Given the description of an element on the screen output the (x, y) to click on. 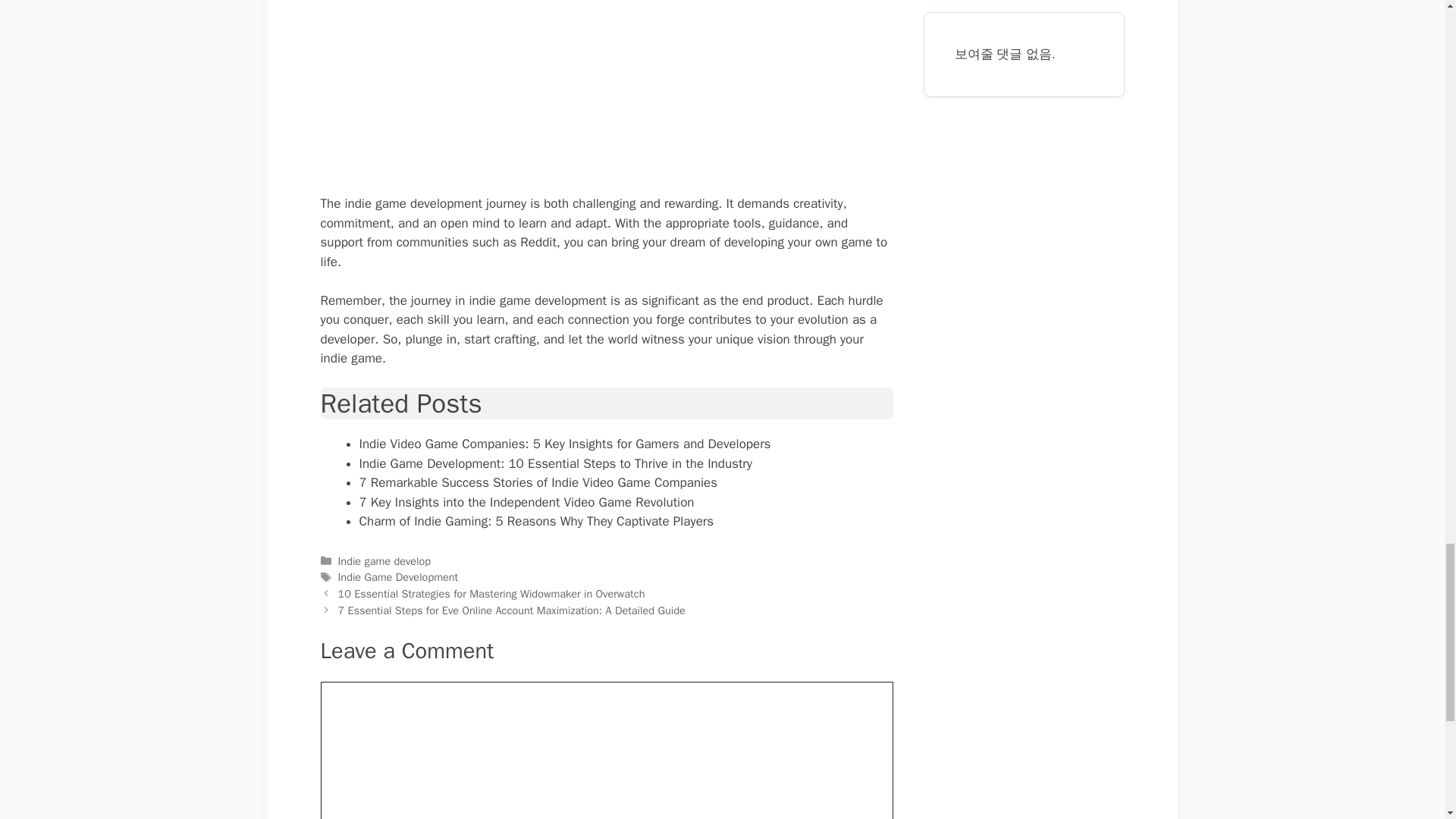
Indie game develop (383, 561)
Indie Game Development (397, 576)
7 Remarkable Success Stories of Indie Video Game Companies (538, 482)
Charm of Indie Gaming: 5 Reasons Why They Captivate Players (536, 521)
7 Key Insights into the Independent Video Game Revolution (526, 502)
